Given the description of an element on the screen output the (x, y) to click on. 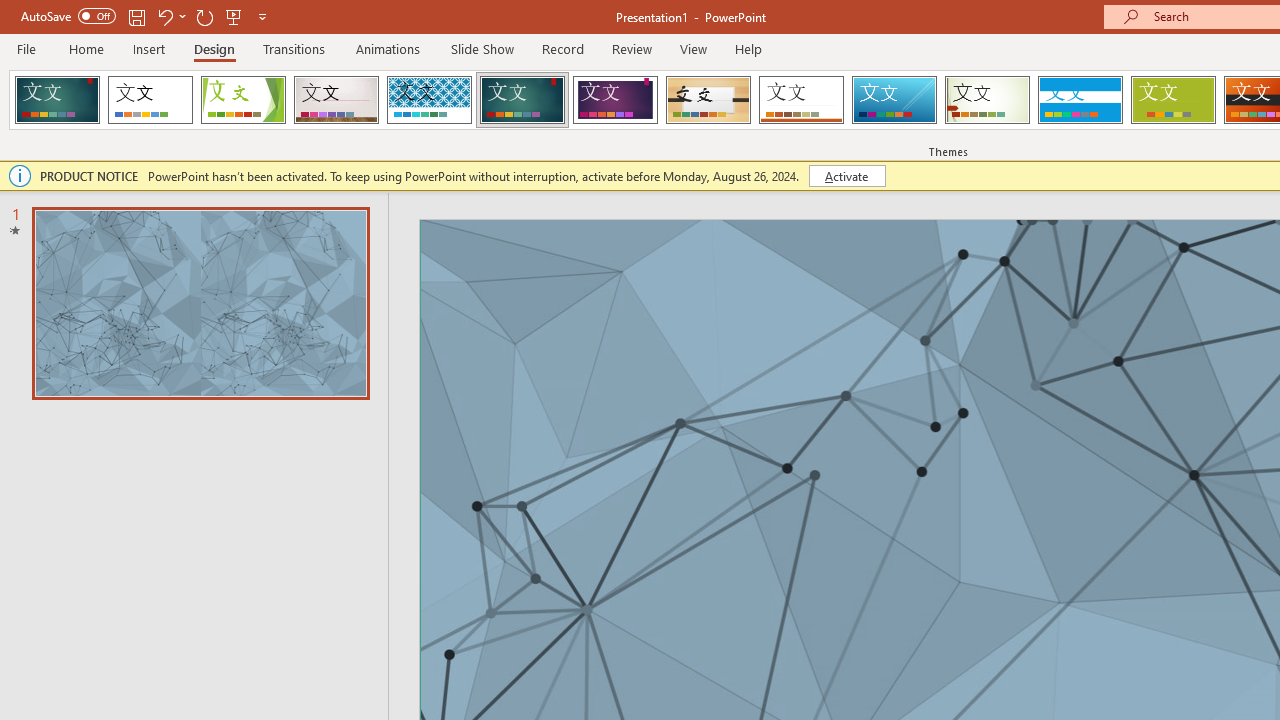
Activate (846, 175)
Organic (708, 100)
From Beginning (234, 15)
Integral (429, 100)
Design (214, 48)
Animations (388, 48)
Help (748, 48)
Retrospect (801, 100)
More Options (182, 15)
Slice (893, 100)
Insert (149, 48)
Banded (1080, 100)
View (693, 48)
